Given the description of an element on the screen output the (x, y) to click on. 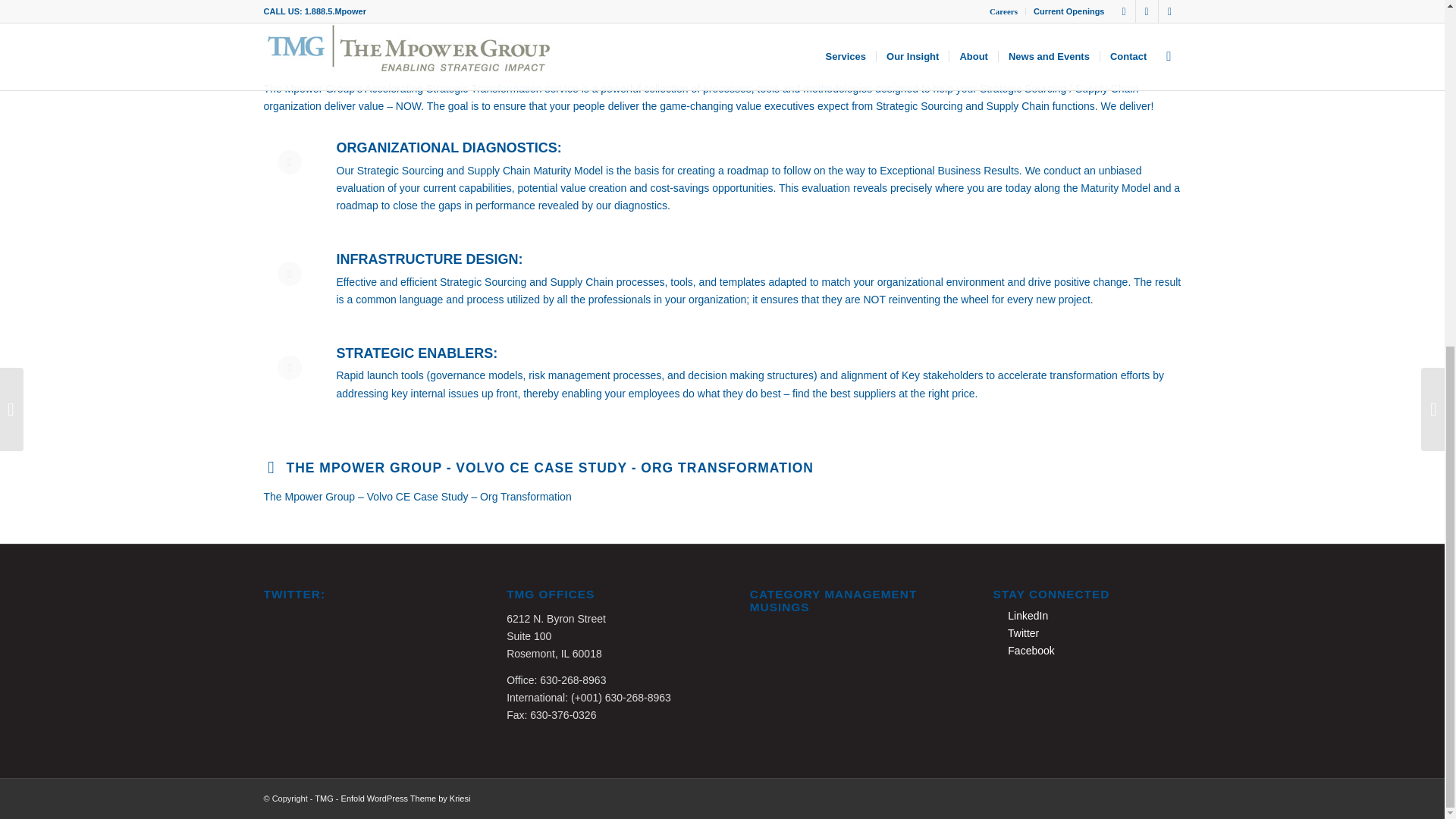
LinkedIn (1020, 615)
Facebook (1023, 650)
The Mpower Group - Volvo CE Case Study - Org Transformation (549, 467)
TMG (323, 798)
Twitter (1015, 633)
Enfold WordPress Theme by Kriesi (405, 798)
What is Category Management? (843, 665)
The Mpower Group - Volvo CE Case Study - Org Transformation (270, 466)
THE MPOWER GROUP - VOLVO CE CASE STUDY - ORG TRANSFORMATION (549, 467)
